Given the description of an element on the screen output the (x, y) to click on. 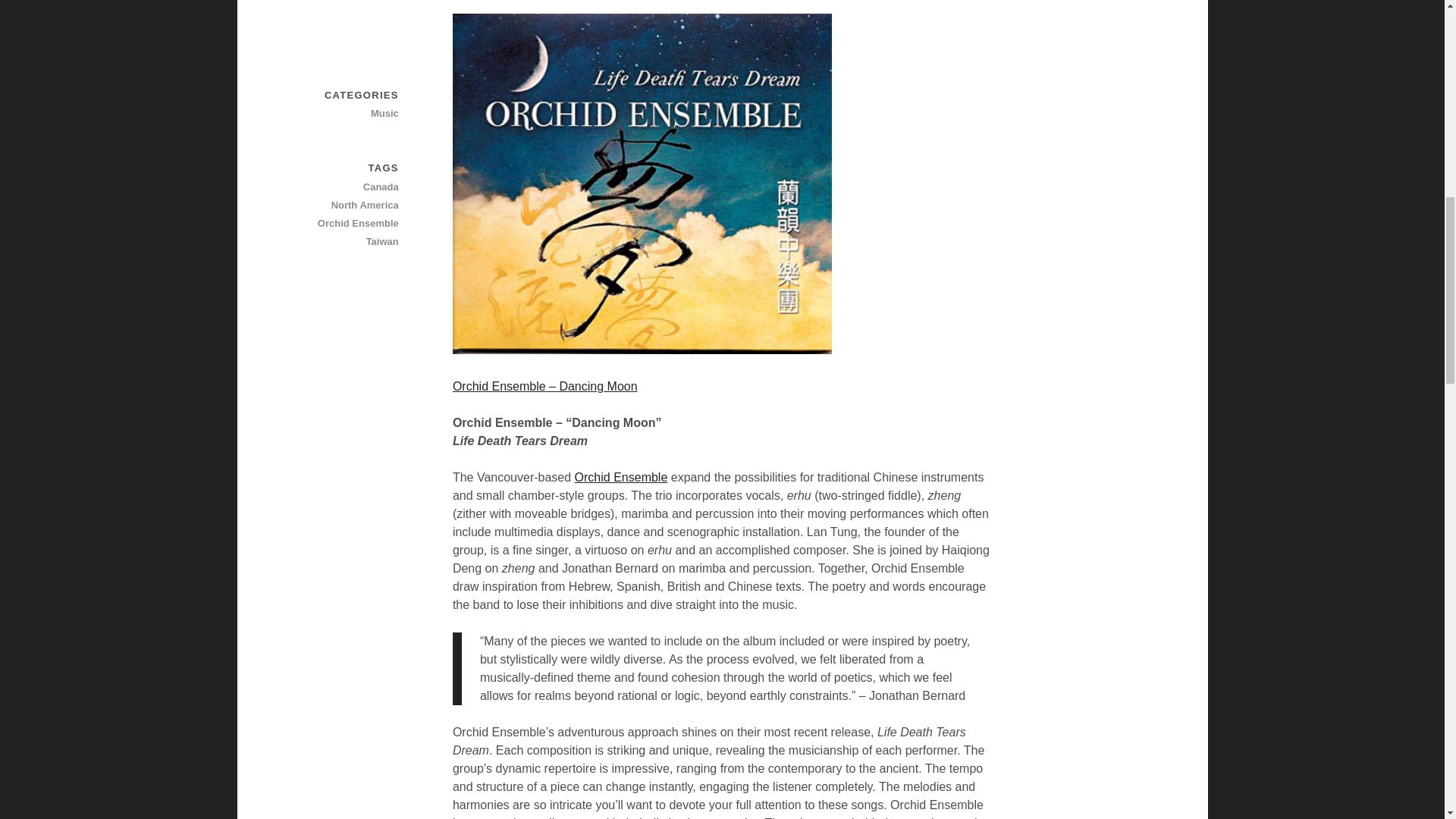
Taiwan (344, 241)
Music (344, 113)
Canada (344, 187)
View all posts in Music (344, 113)
Orchid Ensemble (621, 477)
North America (344, 205)
Orchid Ensemble (621, 477)
Orchid Ensemble (344, 223)
